Given the description of an element on the screen output the (x, y) to click on. 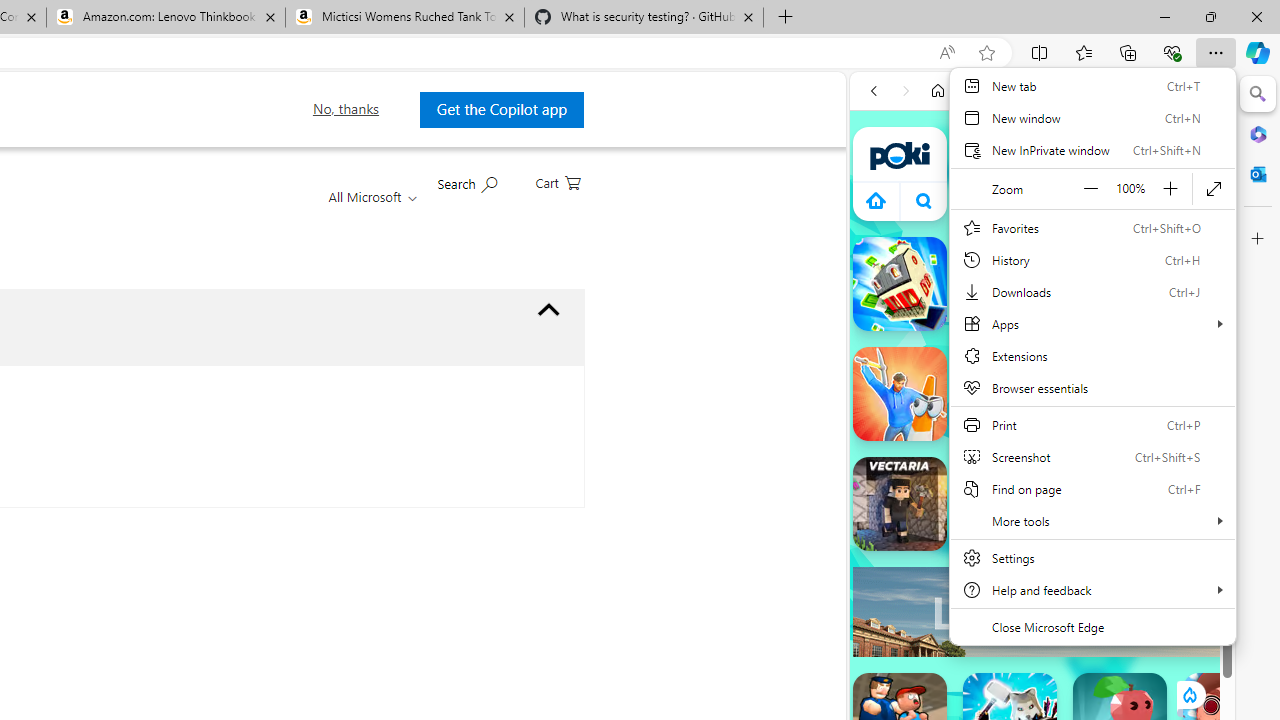
Class: hvLtMSipvVng82x9Seuh (997, 519)
Shooting Games (1042, 519)
0 items in shopping cart (558, 181)
Simply Prop Hunt (899, 393)
